Given the description of an element on the screen output the (x, y) to click on. 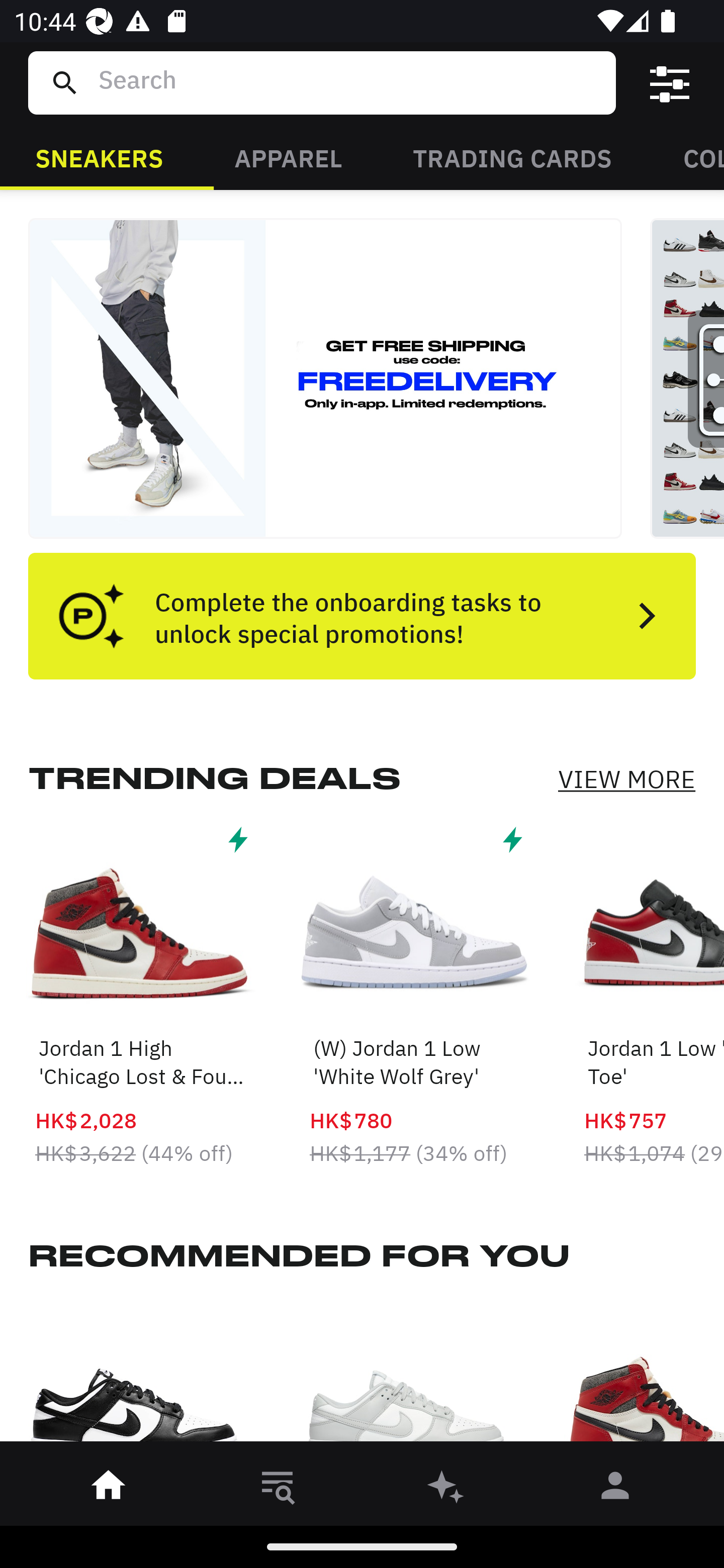
Search (349, 82)
 (669, 82)
SNEAKERS (99, 156)
APPAREL (287, 156)
TRADING CARDS (512, 156)
VIEW MORE (626, 779)
󰋜 (108, 1488)
󱎸 (277, 1488)
󰫢 (446, 1488)
󰀄 (615, 1488)
